Given the description of an element on the screen output the (x, y) to click on. 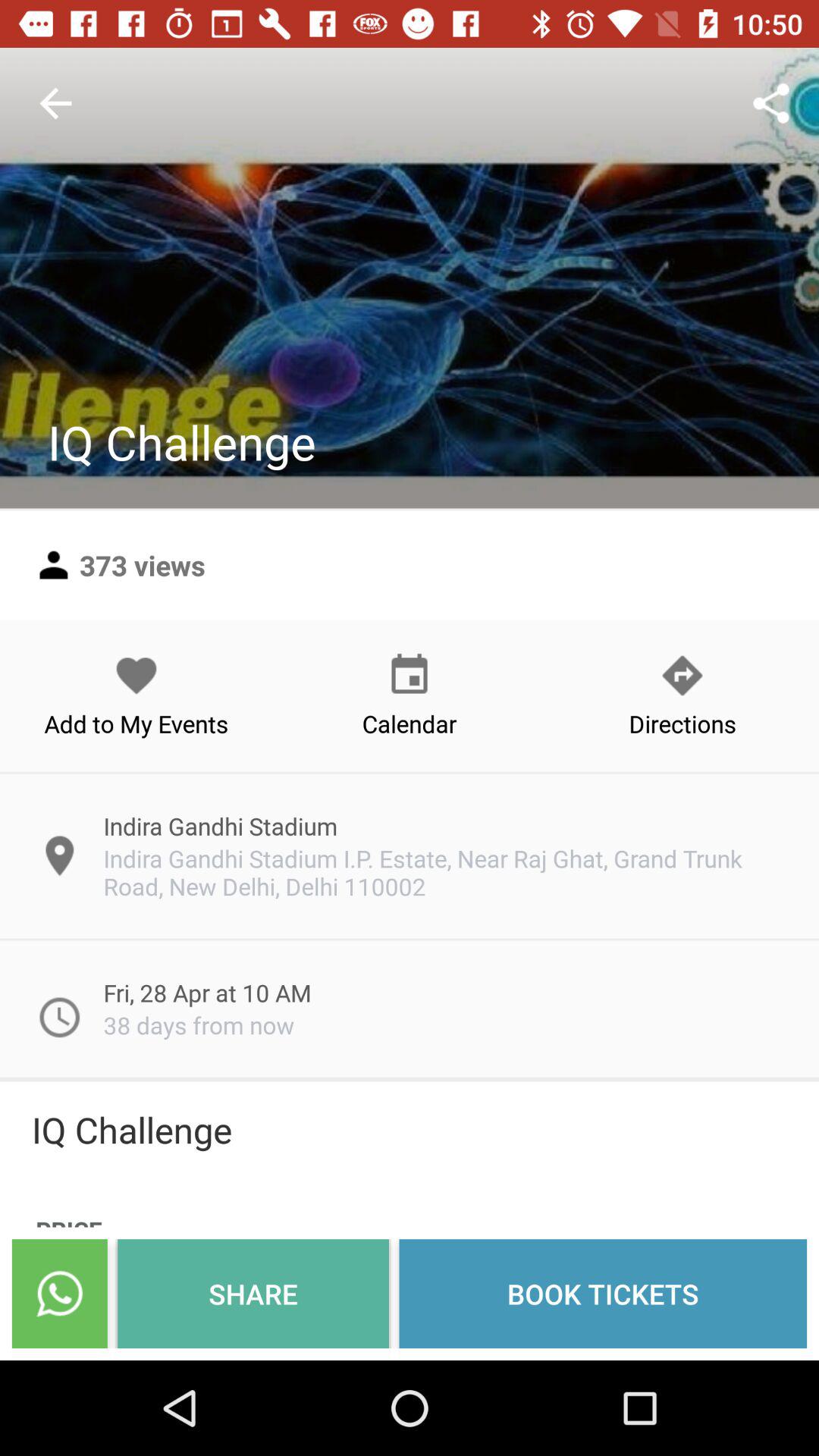
select the icon at the top left corner (55, 103)
